Given the description of an element on the screen output the (x, y) to click on. 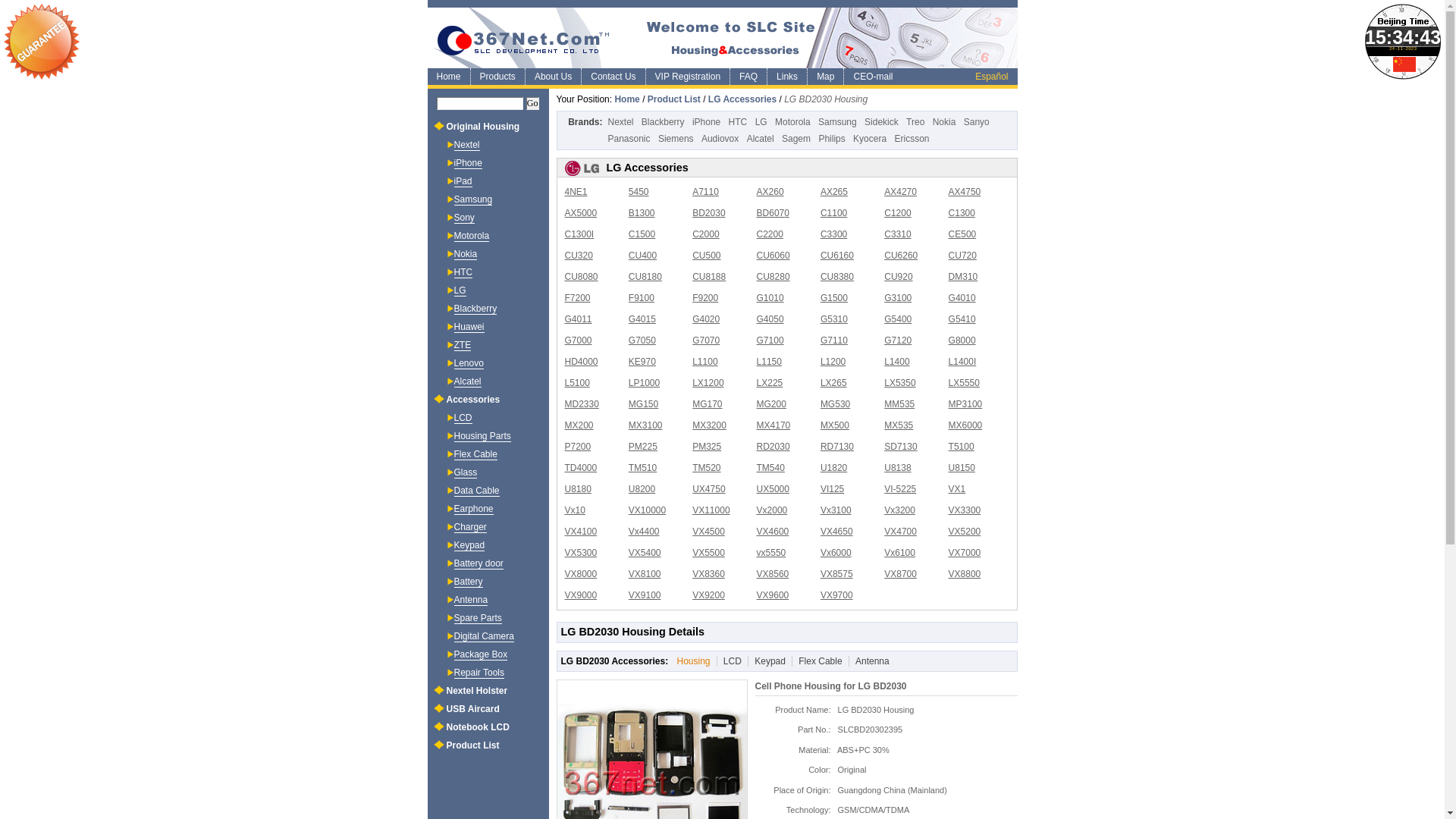
SD7130 Element type: text (900, 446)
Products Element type: text (497, 76)
AX265 Element type: text (833, 191)
Battery Element type: text (467, 581)
Contact Us Element type: text (612, 76)
G4020 Element type: text (705, 318)
Blackberry Element type: text (662, 121)
Antenna Element type: text (470, 599)
MM535 Element type: text (899, 403)
L1100 Element type: text (704, 361)
VX11000 Element type: text (710, 510)
C1500 Element type: text (641, 234)
G8000 Element type: text (961, 340)
Huawei Element type: text (468, 326)
AX260 Element type: text (770, 191)
LX1200 Element type: text (707, 382)
G7100 Element type: text (770, 340)
CU8080 Element type: text (580, 276)
MD2330 Element type: text (581, 403)
Home Element type: text (448, 76)
Audiovox Element type: text (719, 138)
ZTE Element type: text (461, 345)
L5100 Element type: text (576, 382)
VX3300 Element type: text (964, 510)
HTC Element type: text (737, 121)
MG200 Element type: text (771, 403)
iPhone Element type: text (467, 163)
VX9100 Element type: text (644, 594)
LG Accessories Element type: text (742, 99)
Alcatel Element type: text (760, 138)
Go Element type: text (532, 103)
Notebook LCD Element type: text (476, 726)
AX5000 Element type: text (580, 212)
VX1 Element type: text (957, 488)
Alcatel Element type: text (466, 381)
Kyocera Element type: text (869, 138)
CE500 Element type: text (962, 234)
CU6160 Element type: text (836, 255)
Treo Element type: text (915, 121)
PM325 Element type: text (706, 446)
Samsung Element type: text (472, 199)
LX265 Element type: text (833, 382)
LX5550 Element type: text (963, 382)
Original Housing Element type: text (482, 126)
VX4600 Element type: text (772, 531)
VX4650 Element type: text (836, 531)
Lenovo Element type: text (468, 363)
Nextel Element type: text (620, 121)
G5310 Element type: text (833, 318)
Package Box Element type: text (480, 654)
P7200 Element type: text (577, 446)
MX4170 Element type: text (773, 425)
Samsung Element type: text (837, 121)
VX9000 Element type: text (580, 594)
Accessories Element type: text (472, 399)
G7120 Element type: text (897, 340)
VX7000 Element type: text (964, 552)
Keypad Element type: text (766, 660)
RD7130 Element type: text (836, 446)
4NE1 Element type: text (575, 191)
Home Element type: text (626, 99)
Sidekick Element type: text (881, 121)
Repair Tools Element type: text (478, 672)
vx5550 Element type: text (771, 552)
LG Element type: text (761, 121)
G7070 Element type: text (705, 340)
CU8280 Element type: text (773, 276)
Product List Element type: text (673, 99)
Vx3100 Element type: text (835, 510)
Sony Element type: text (463, 217)
C3310 Element type: text (897, 234)
iPhone Element type: text (706, 121)
CU920 Element type: text (898, 276)
Sanyo Element type: text (976, 121)
VX5200 Element type: text (964, 531)
Nextel Element type: text (466, 144)
C1100 Element type: text (833, 212)
UX5000 Element type: text (772, 488)
DM310 Element type: text (963, 276)
VIP Registration Element type: text (687, 76)
LCD Element type: text (728, 660)
G7050 Element type: text (641, 340)
LX5350 Element type: text (899, 382)
VX5300 Element type: text (580, 552)
VX5500 Element type: text (708, 552)
F7200 Element type: text (576, 297)
LG Accessories Element type: text (786, 167)
U8200 Element type: text (641, 488)
CU6260 Element type: text (900, 255)
U8138 Element type: text (897, 467)
L1200 Element type: text (832, 361)
Vx6100 Element type: text (899, 552)
Data Cable Element type: text (475, 490)
G3100 Element type: text (897, 297)
U1820 Element type: text (833, 467)
MP3100 Element type: text (965, 403)
VX9600 Element type: text (772, 594)
VI-5225 Element type: text (900, 488)
TM520 Element type: text (706, 467)
5450 Element type: text (638, 191)
HD4000 Element type: text (580, 361)
MX200 Element type: text (578, 425)
CU8180 Element type: text (645, 276)
Charger Element type: text (469, 527)
Siemens Element type: text (675, 138)
Housing Parts Element type: text (481, 436)
CU6060 Element type: text (773, 255)
Map Element type: text (824, 76)
VX4500 Element type: text (708, 531)
Antenna Element type: text (868, 660)
VX4700 Element type: text (900, 531)
CU720 Element type: text (962, 255)
G1500 Element type: text (833, 297)
Nokia Element type: text (464, 254)
Product List Element type: text (471, 745)
KE970 Element type: text (641, 361)
VX8800 Element type: text (964, 573)
CEO-mail Element type: text (872, 76)
G7110 Element type: text (833, 340)
Sagem Element type: text (795, 138)
Vx4400 Element type: text (643, 531)
iPad Element type: text (462, 181)
VX4100 Element type: text (580, 531)
CU400 Element type: text (642, 255)
B1300 Element type: text (641, 212)
L1150 Element type: text (768, 361)
LG Element type: text (459, 290)
TD4000 Element type: text (580, 467)
Vx10 Element type: text (574, 510)
Nokia Element type: text (944, 121)
Blackberry Element type: text (474, 308)
AX4750 Element type: text (964, 191)
Philips Element type: text (831, 138)
Flex Cable Element type: text (474, 454)
G4050 Element type: text (770, 318)
Spare Parts Element type: text (477, 618)
MG530 Element type: text (835, 403)
BD6070 Element type: text (772, 212)
Digital Camera Element type: text (483, 636)
LP1000 Element type: text (643, 382)
VX10000 Element type: text (646, 510)
MX3100 Element type: text (645, 425)
C1200 Element type: text (897, 212)
HTC Element type: text (462, 272)
VX8360 Element type: text (708, 573)
LCD Element type: text (462, 417)
RD2030 Element type: text (773, 446)
Links Element type: text (786, 76)
C1300 Element type: text (961, 212)
MX3200 Element type: text (709, 425)
G4011 Element type: text (577, 318)
VX8700 Element type: text (900, 573)
USB Aircard Element type: text (471, 708)
Nextel Holster Element type: text (476, 690)
U8180 Element type: text (577, 488)
Vx3200 Element type: text (899, 510)
AX4270 Element type: text (900, 191)
TM510 Element type: text (642, 467)
VI125 Element type: text (832, 488)
Motorola Element type: text (471, 235)
VX9200 Element type: text (708, 594)
PM225 Element type: text (642, 446)
VX5400 Element type: text (644, 552)
About Us Element type: text (552, 76)
F9100 Element type: text (641, 297)
G1010 Element type: text (770, 297)
MX500 Element type: text (834, 425)
C1300I Element type: text (578, 234)
L1400 Element type: text (896, 361)
Guarantee Element type: text (41, 41)
Glass Element type: text (464, 472)
Earphone Element type: text (472, 508)
SLC Mobile Phone Accessories and Housing Element type: text (722, 37)
VX8100 Element type: text (644, 573)
T5100 Element type: text (961, 446)
Ericsson Element type: text (911, 138)
Keypad Element type: text (468, 545)
Panasonic Element type: text (629, 138)
VX9700 Element type: text (836, 594)
Vx2000 Element type: text (771, 510)
CU320 Element type: text (578, 255)
UX4750 Element type: text (708, 488)
Housing Element type: text (689, 660)
C2200 Element type: text (769, 234)
A7110 Element type: text (705, 191)
Motorola Element type: text (792, 121)
G5400 Element type: text (897, 318)
G7000 Element type: text (577, 340)
G4015 Element type: text (641, 318)
FAQ Element type: text (747, 76)
MX6000 Element type: text (965, 425)
CU8380 Element type: text (836, 276)
MG150 Element type: text (643, 403)
LX225 Element type: text (769, 382)
F9200 Element type: text (705, 297)
VX8575 Element type: text (836, 573)
G4010 Element type: text (961, 297)
TM540 Element type: text (770, 467)
Battery door Element type: text (477, 563)
BD2030 Element type: text (708, 212)
C2000 Element type: text (705, 234)
MG170 Element type: text (706, 403)
VX8000 Element type: text (580, 573)
CU8188 Element type: text (708, 276)
Flex Cable Element type: text (816, 660)
U8150 Element type: text (961, 467)
Vx6000 Element type: text (835, 552)
MX535 Element type: text (898, 425)
C3300 Element type: text (833, 234)
CU500 Element type: text (706, 255)
G5410 Element type: text (961, 318)
VX8560 Element type: text (772, 573)
L1400I Element type: text (962, 361)
